Given the description of an element on the screen output the (x, y) to click on. 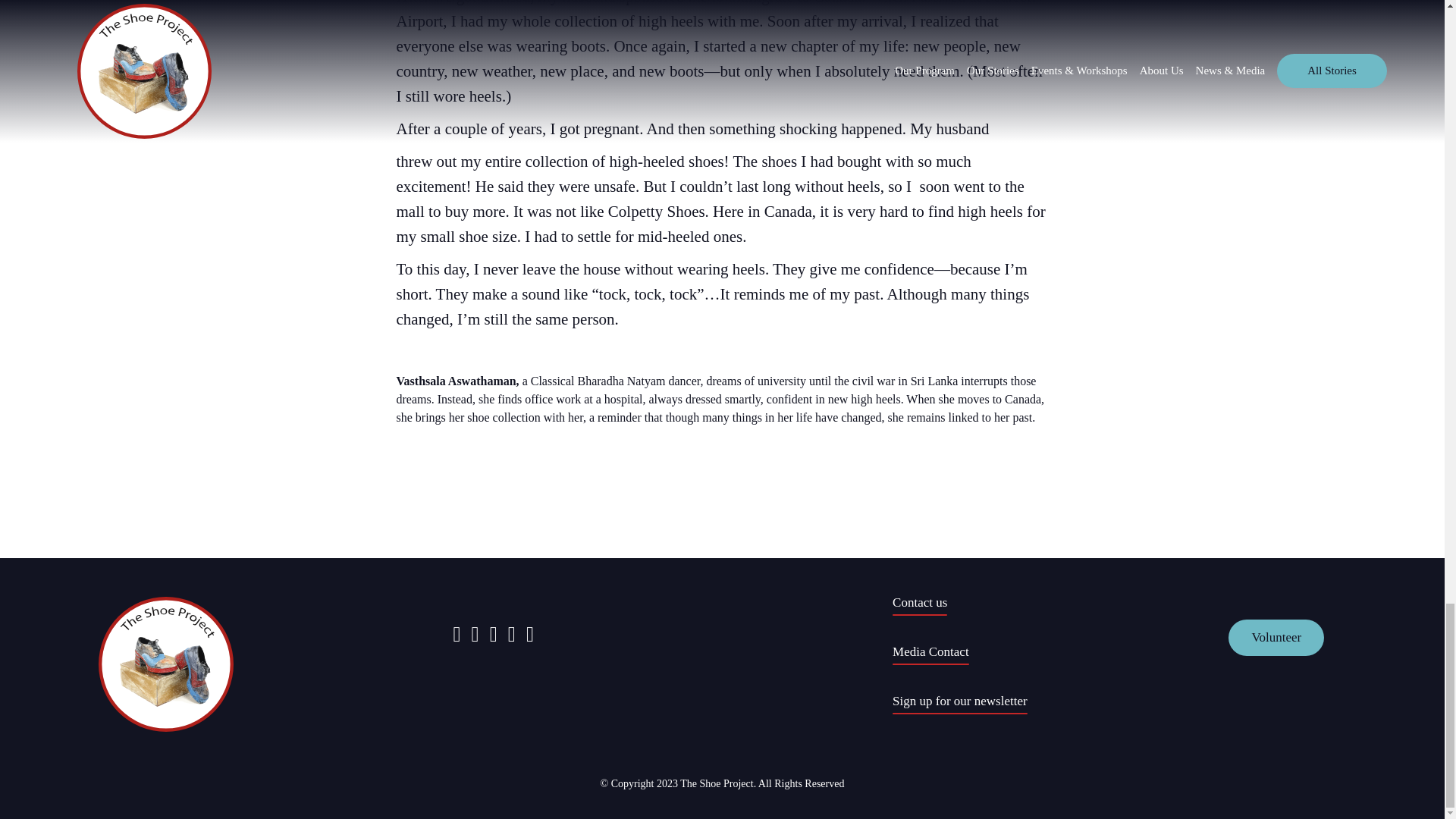
Sign up for our newsletter (959, 703)
Media Contact (930, 654)
Volunteer (1275, 637)
Contact us (919, 605)
